Given the description of an element on the screen output the (x, y) to click on. 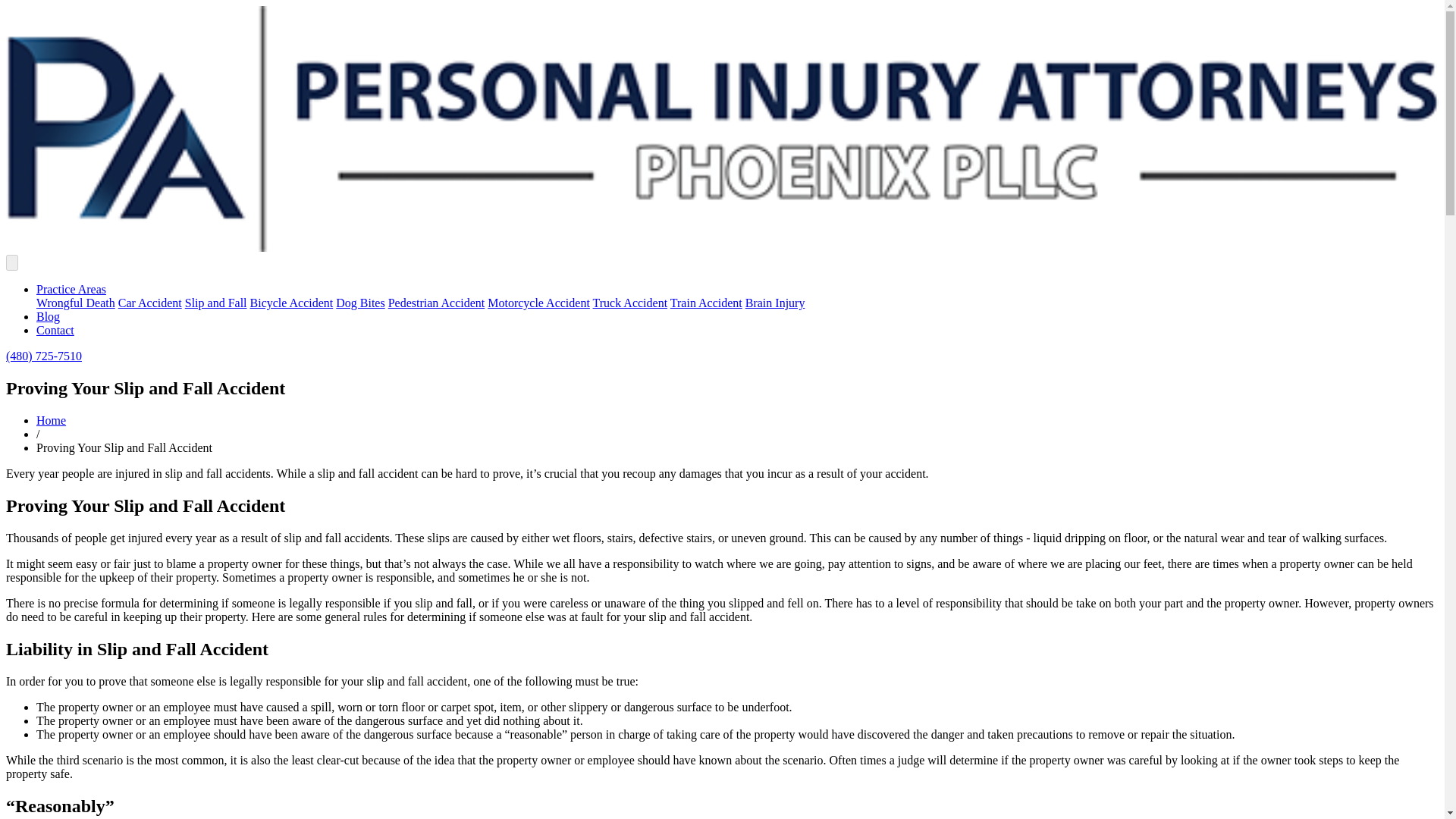
Call Now (43, 355)
Bicycle Accident (291, 302)
Brain Injury (775, 302)
Home (50, 420)
Train Accident (705, 302)
Practice Areas (71, 288)
Motorcycle Accident (538, 302)
Car Accident (149, 302)
Pedestrian Accident (436, 302)
Contact (55, 329)
Slip and Fall (215, 302)
Truck Accident (630, 302)
Dog Bites (360, 302)
Blog (47, 316)
Wrongful Death (75, 302)
